Given the description of an element on the screen output the (x, y) to click on. 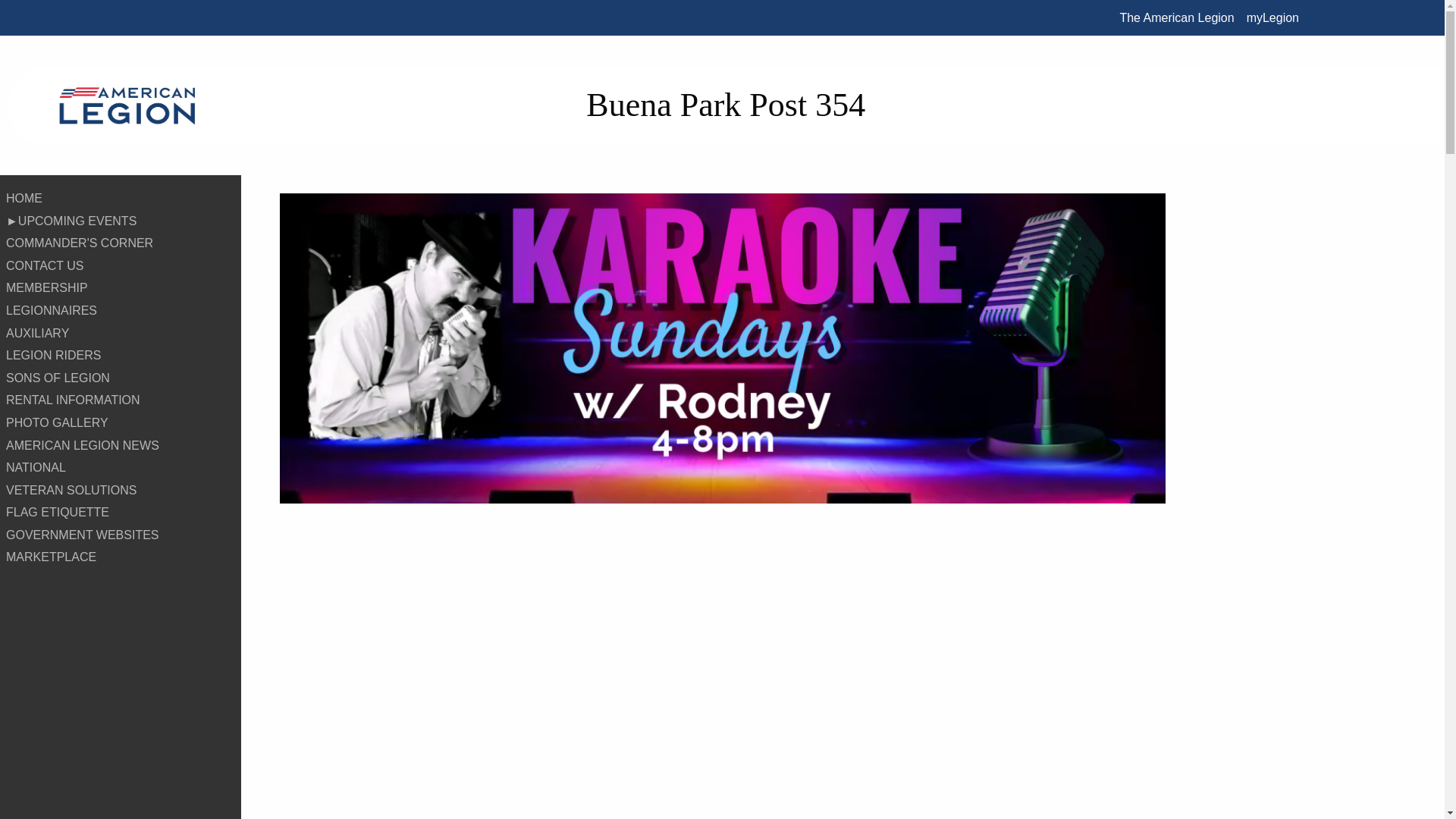
CONTACT US (120, 265)
The American Legion (1176, 17)
myLegion (1272, 17)
LEGION RIDERS (120, 354)
SONS OF LEGION (120, 377)
RENTAL INFORMATION (120, 400)
COMMANDER'S CORNER (120, 242)
MARKETPLACE (120, 557)
myLegion.org (1272, 17)
American Legion (127, 105)
